Given the description of an element on the screen output the (x, y) to click on. 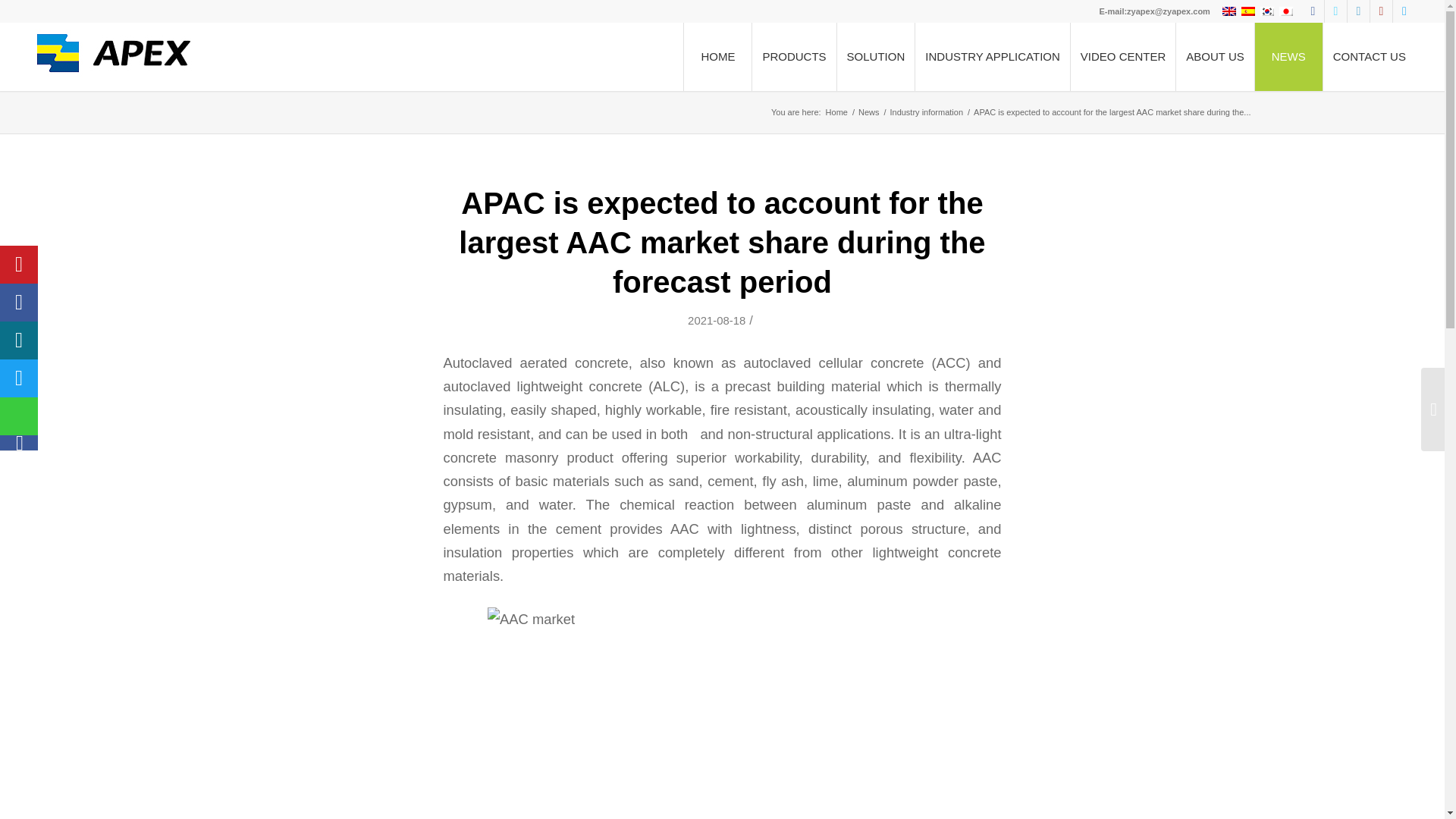
PRODUCTS (793, 56)
HOME (716, 56)
APEX (837, 112)
VIDEO CENTER (1123, 56)
Linkedin (1359, 11)
Industry information (925, 112)
INDUSTRY APPLICATION (992, 56)
ABOUT US (1213, 56)
News (869, 112)
NEWS (1287, 56)
Youtube (1380, 11)
Facebook (1312, 11)
CONTACT US (1368, 56)
Home (837, 112)
